Given the description of an element on the screen output the (x, y) to click on. 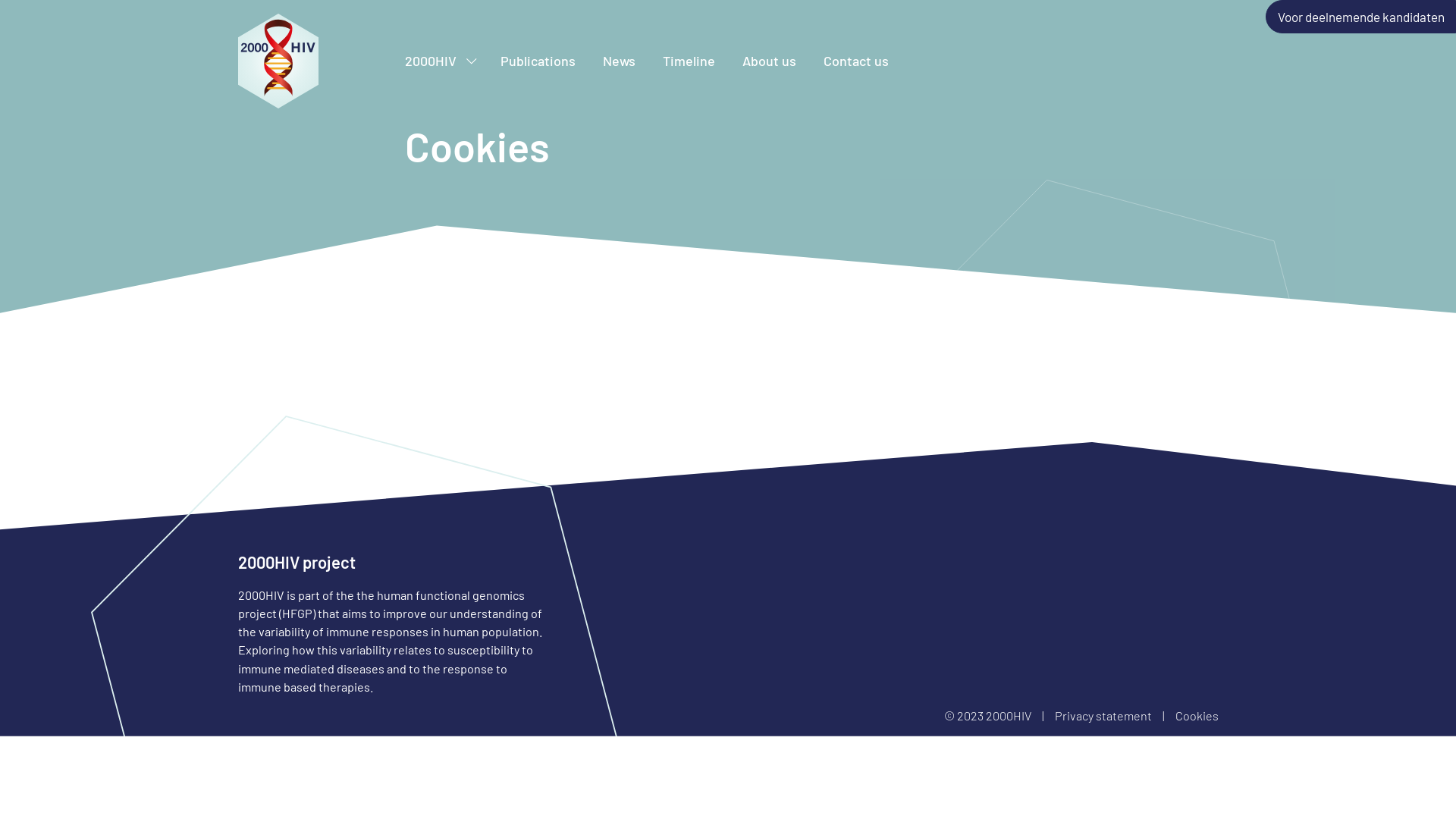
Privacy statement Element type: text (1104, 715)
Timeline Element type: text (688, 60)
Contact us Element type: text (855, 60)
2000HIV Element type: text (439, 60)
About us Element type: text (768, 60)
News Element type: text (619, 60)
Publications Element type: text (537, 60)
Cookies Element type: text (1196, 715)
